Given the description of an element on the screen output the (x, y) to click on. 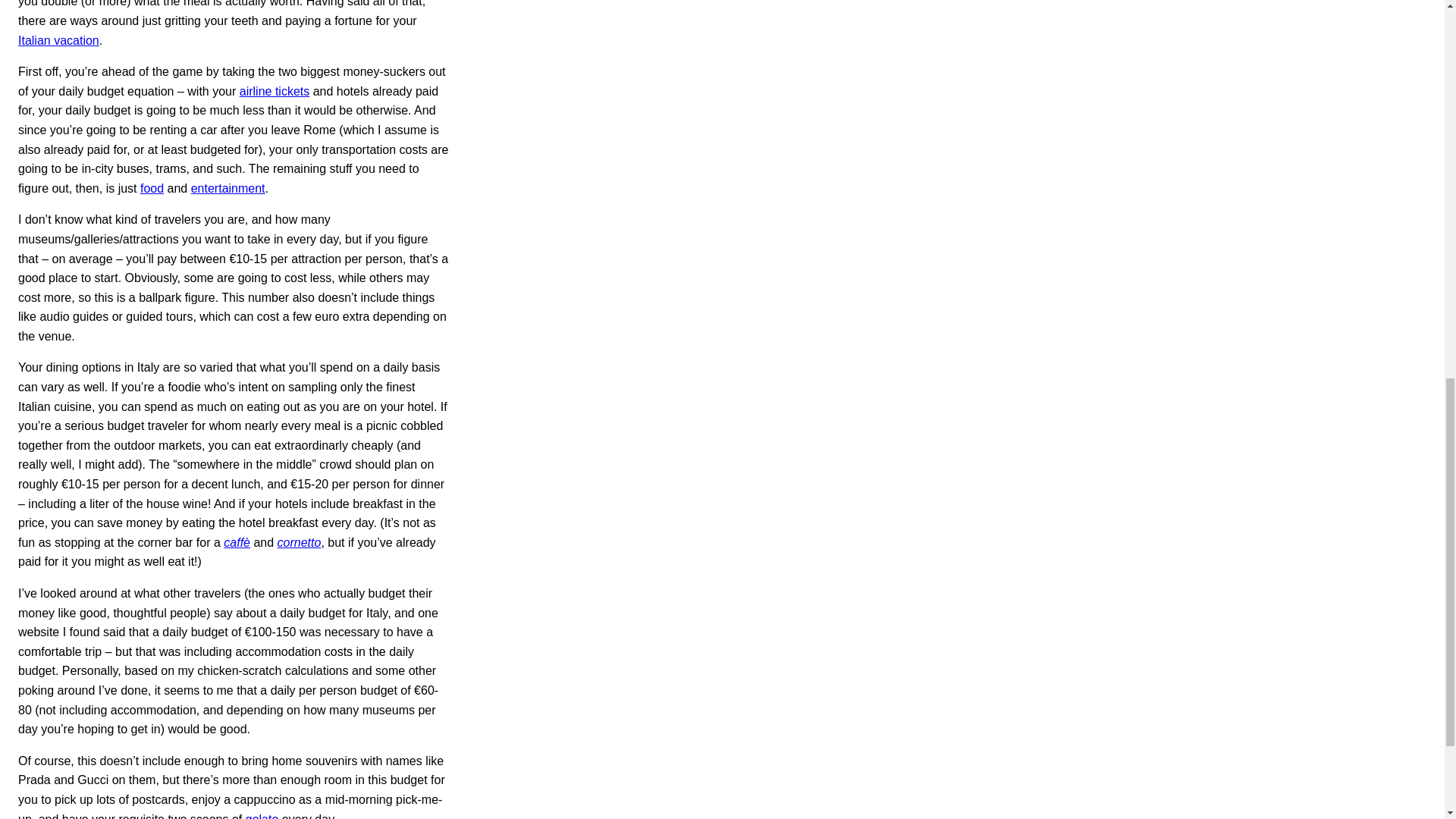
gelato (262, 816)
food (151, 187)
cornetto (299, 542)
Italian vacation (58, 40)
airline tickets (274, 91)
entertainment (227, 187)
